Given the description of an element on the screen output the (x, y) to click on. 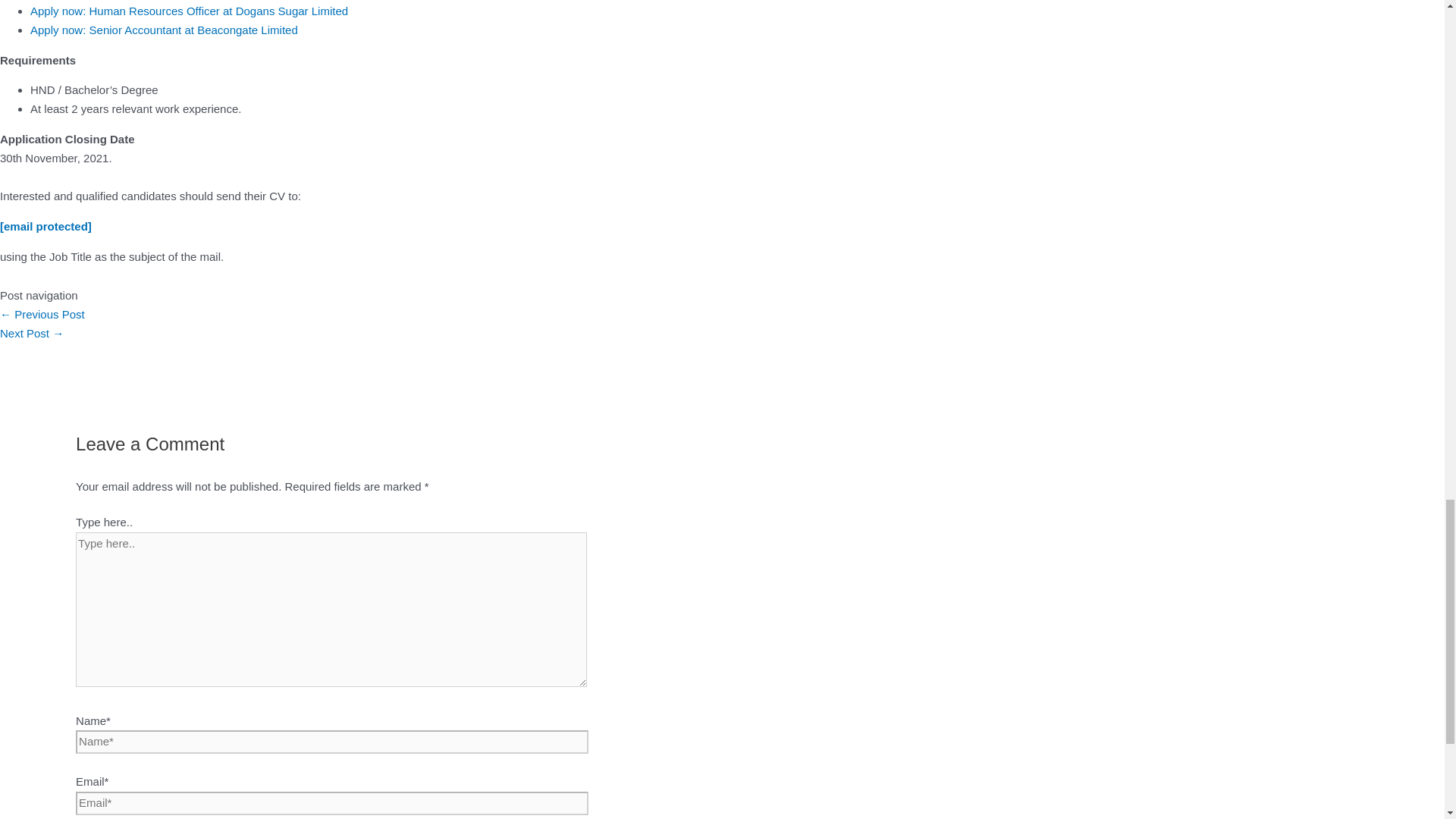
Apply now: Human Resources Officer at Dogans Sugar Limited (188, 10)
Apply now: Gas Turbine Manager at Flour Mills of Nigeria Plc (42, 314)
Apply now: Senior Accountant at Beacongate Limited (164, 29)
